Given the description of an element on the screen output the (x, y) to click on. 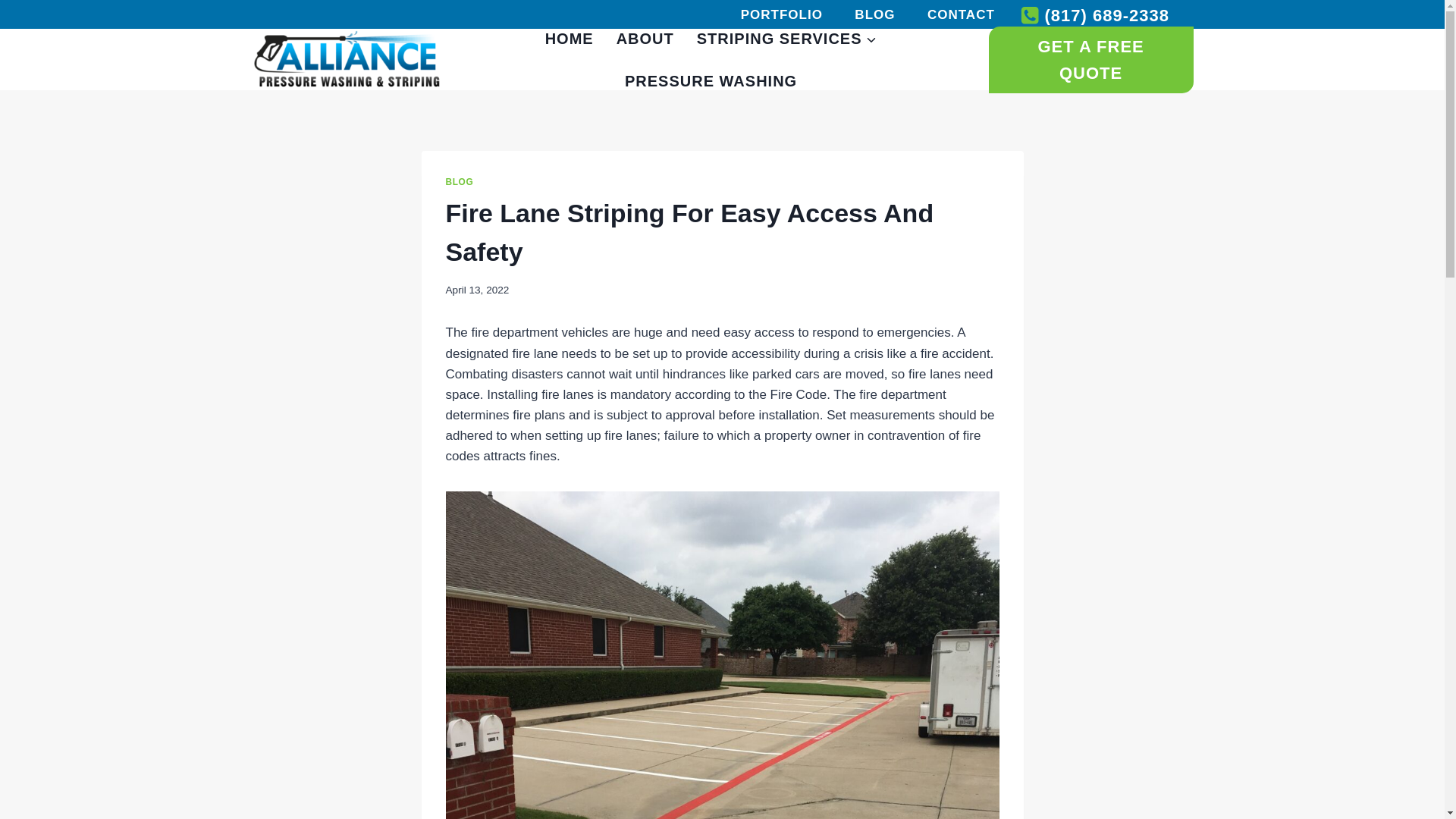
STRIPING SERVICES (786, 38)
BLOG (459, 181)
PORTFOLIO (780, 13)
CONTACT (960, 13)
BLOG (874, 13)
ABOUT (645, 38)
HOME (569, 38)
PRESSURE WASHING (710, 80)
GET A FREE QUOTE (1090, 59)
